Given the description of an element on the screen output the (x, y) to click on. 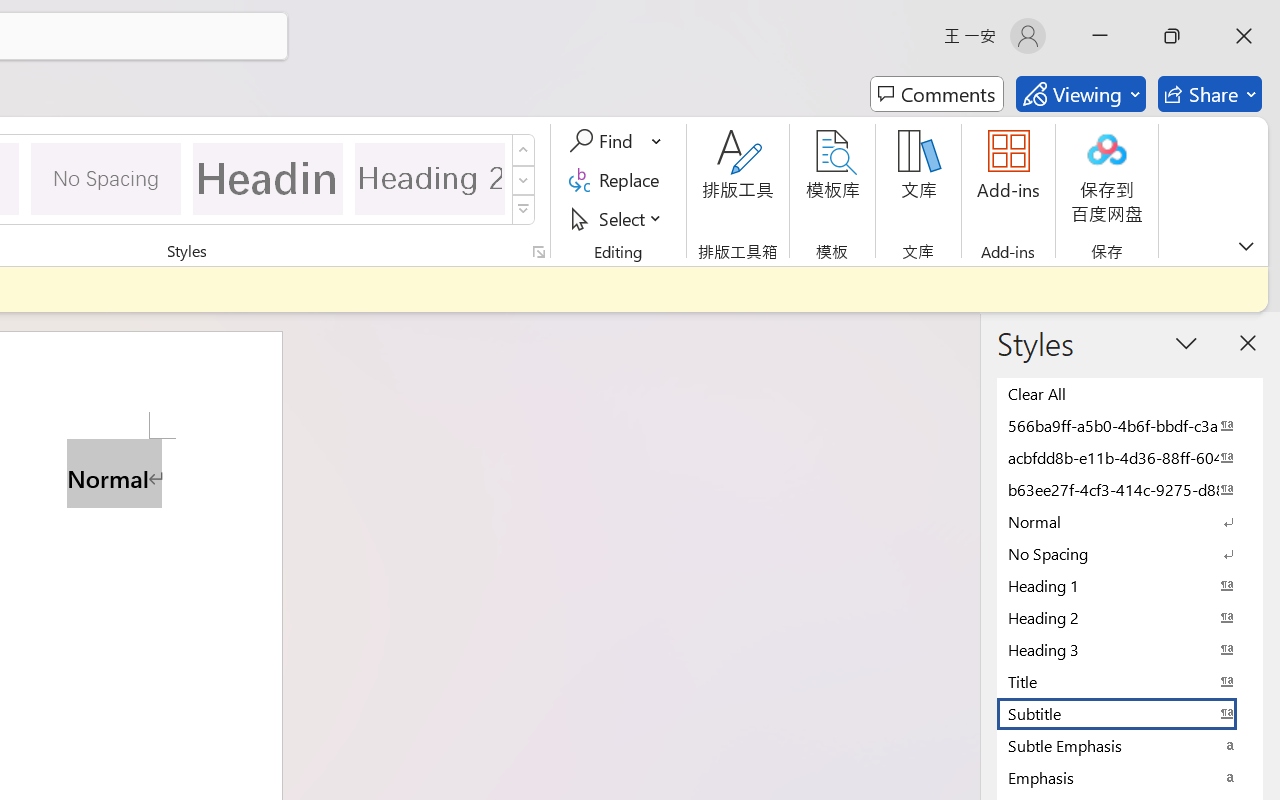
Emphasis (1130, 777)
Clear All (1130, 393)
Task Pane Options (1186, 343)
No Spacing (1130, 553)
Title (1130, 681)
566ba9ff-a5b0-4b6f-bbdf-c3ab41993fc2 (1130, 425)
